Given the description of an element on the screen output the (x, y) to click on. 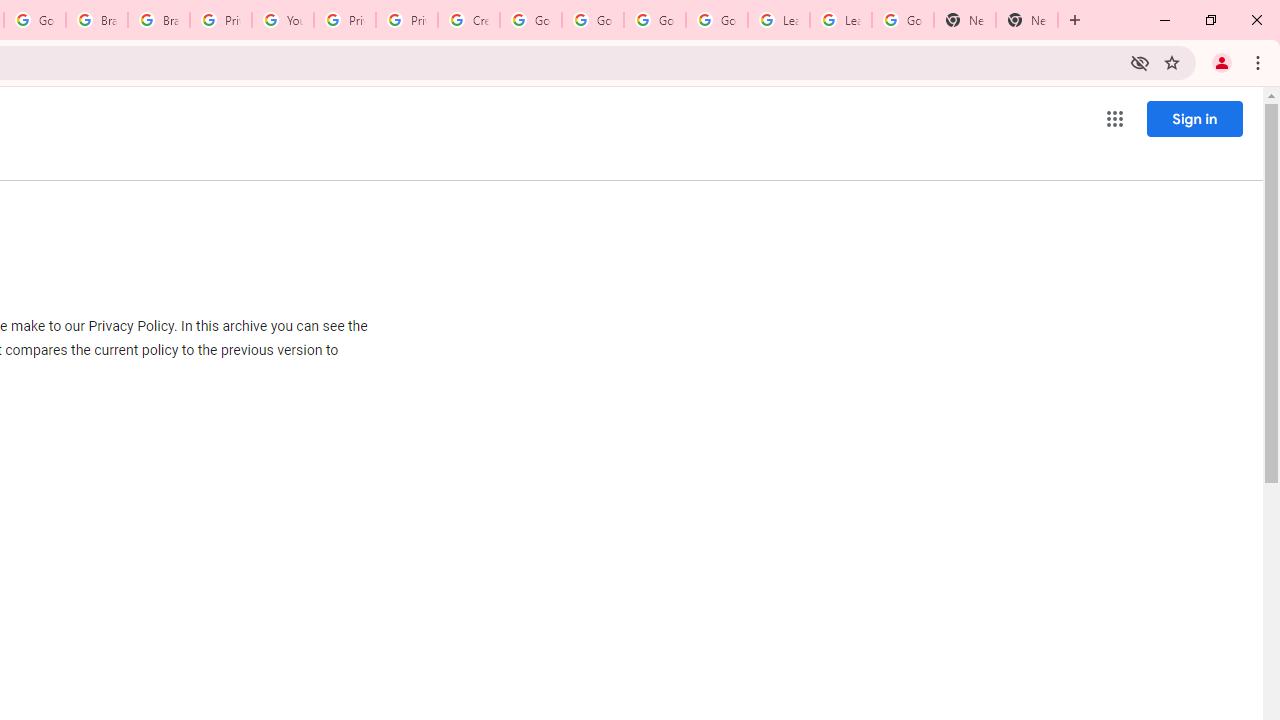
New Tab (1026, 20)
Create your Google Account (468, 20)
Brand Resource Center (158, 20)
Google Account Help (592, 20)
Brand Resource Center (96, 20)
